Given the description of an element on the screen output the (x, y) to click on. 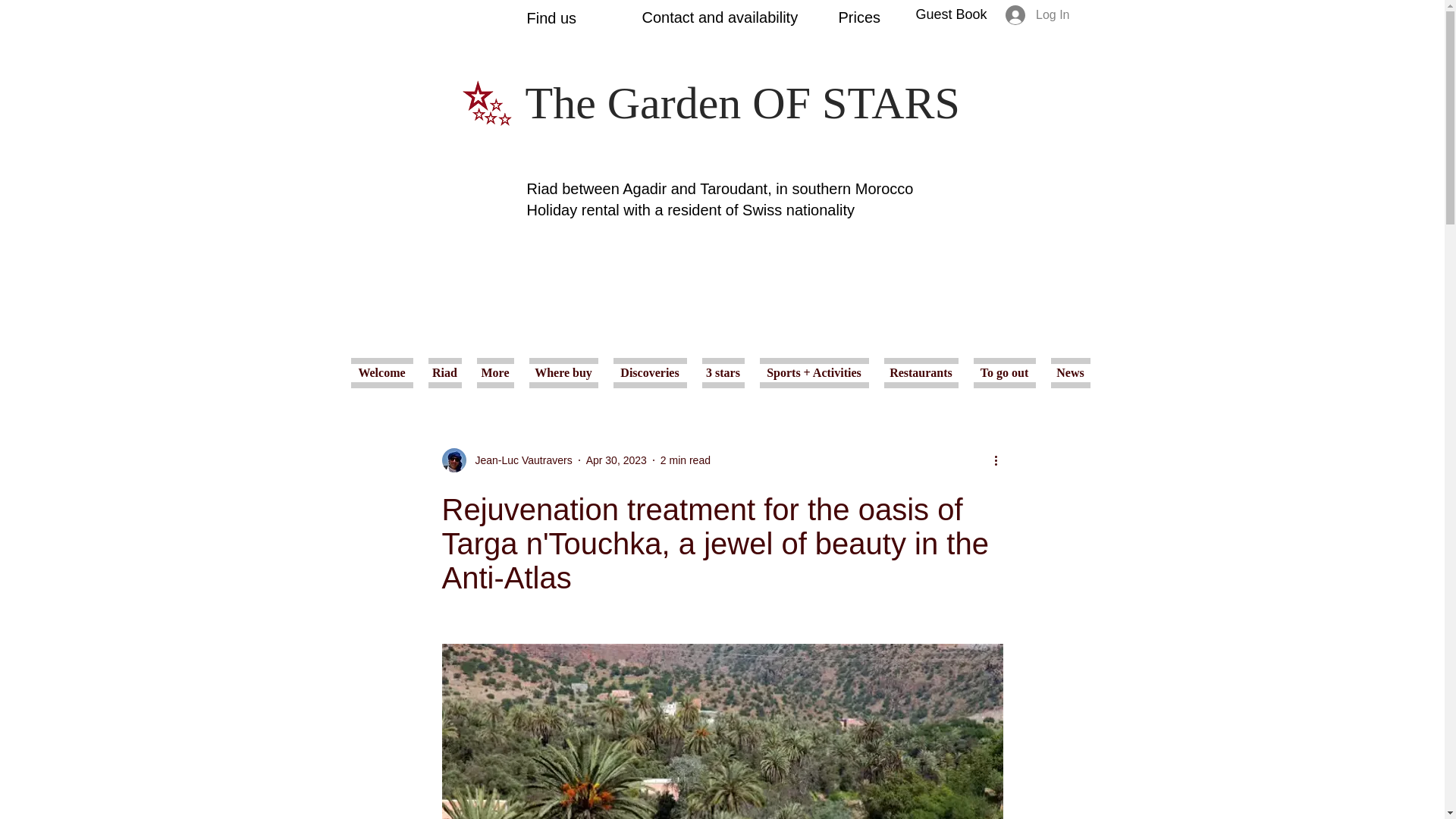
Find us (550, 17)
Contact and availability (719, 17)
Log In (1037, 14)
Riad between Agadir and Taroudant, in southern Morocco (718, 188)
Prices (859, 17)
Apr 30, 2023 (616, 459)
Riad (444, 372)
Jean-Luc Vautravers (518, 459)
Guest Book (951, 14)
Welcome (385, 372)
2 min read (685, 459)
